Given the description of an element on the screen output the (x, y) to click on. 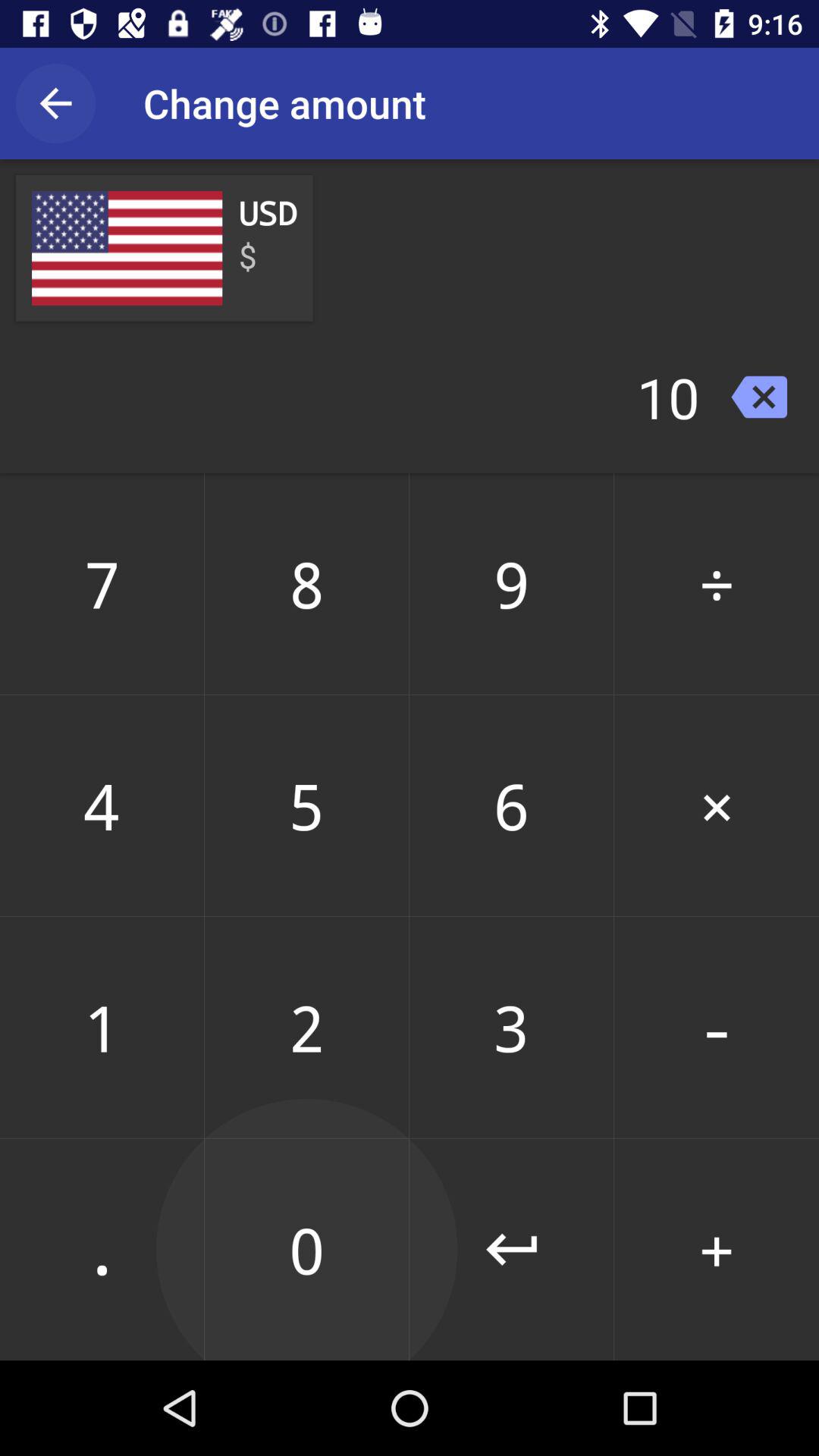
choose the icon to the right of 10 item (759, 397)
